Given the description of an element on the screen output the (x, y) to click on. 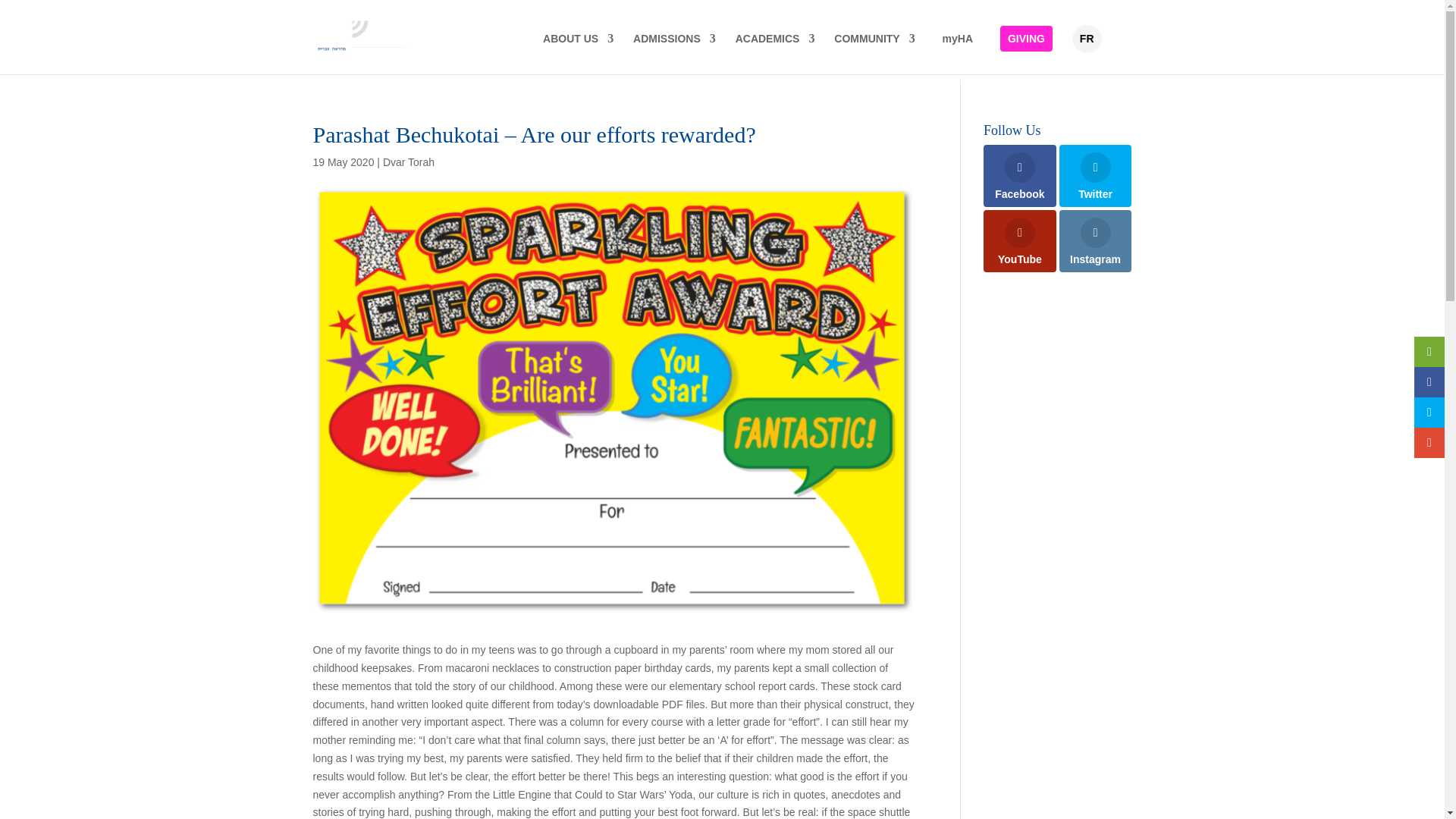
ADMISSIONS (674, 50)
FR (1086, 39)
ACADEMICS (775, 50)
ABOUT US (577, 50)
